Given the description of an element on the screen output the (x, y) to click on. 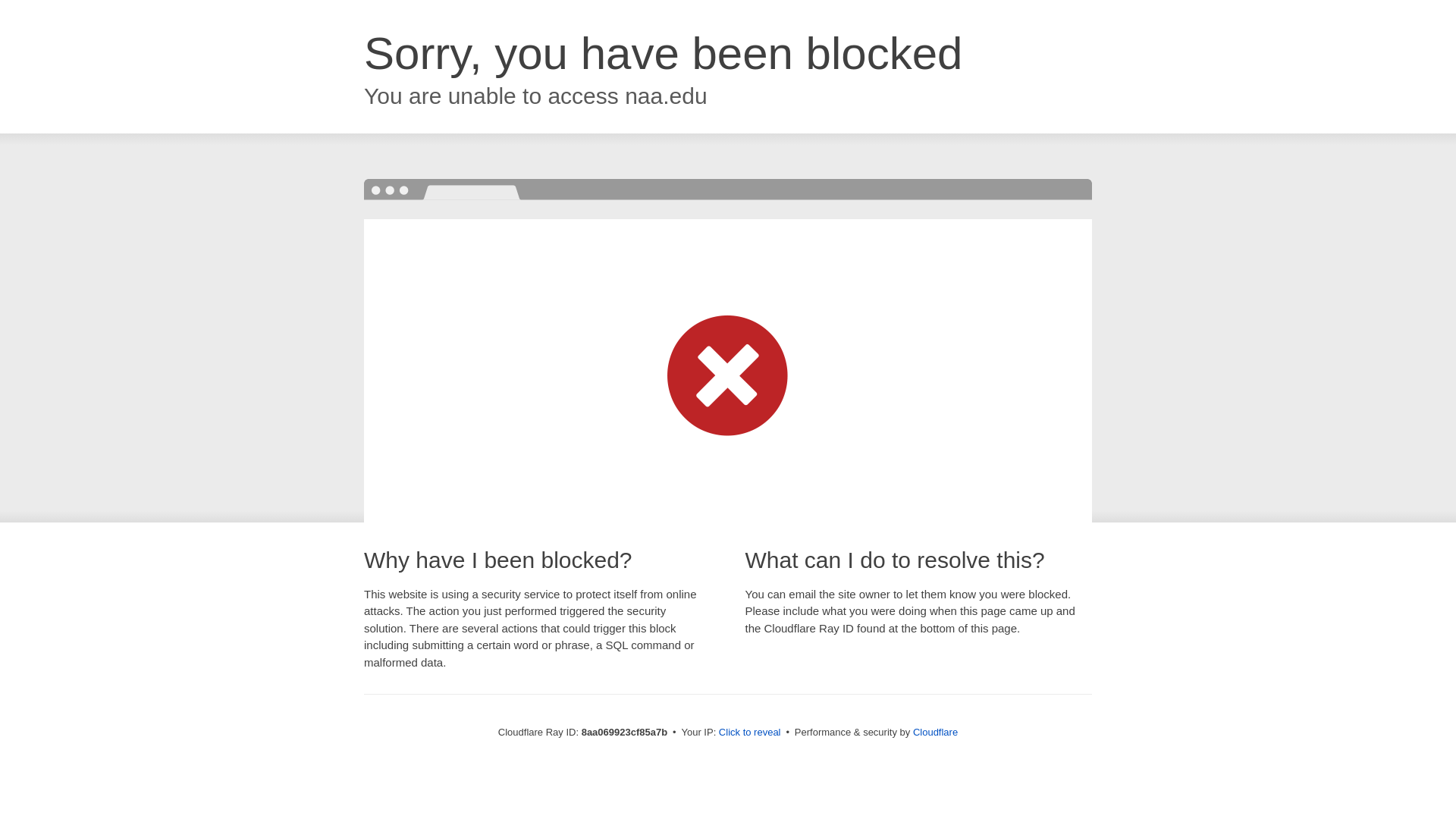
Cloudflare (935, 731)
Click to reveal (749, 732)
